Given the description of an element on the screen output the (x, y) to click on. 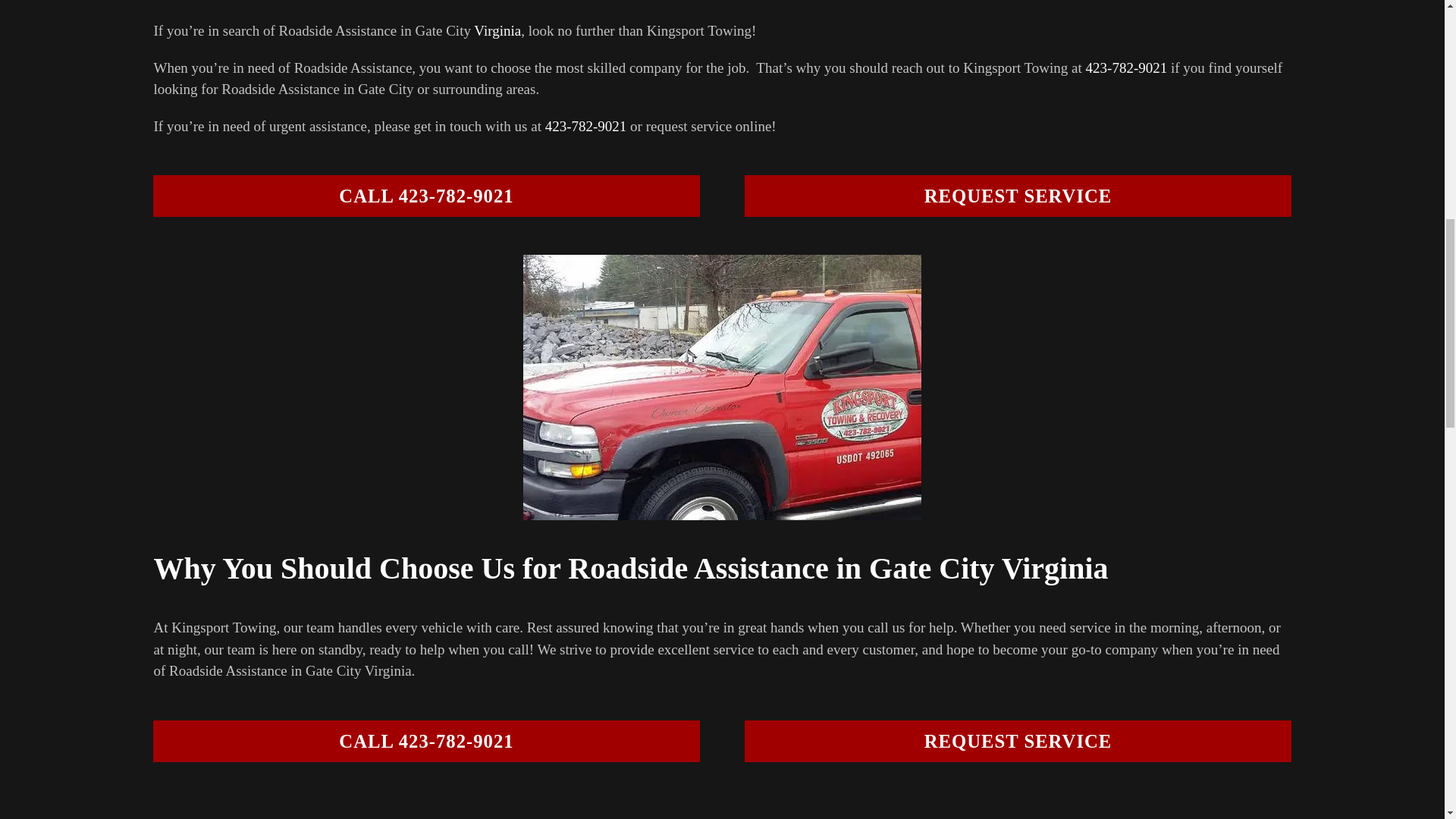
CALL 423-782-9021 (425, 196)
Virginia (721, 203)
423-782-9021 (497, 30)
CALL 423-782-9021 (585, 125)
REQUEST SERVICE (425, 741)
REQUEST SERVICE (1017, 741)
423-782-9021 (1017, 196)
